Given the description of an element on the screen output the (x, y) to click on. 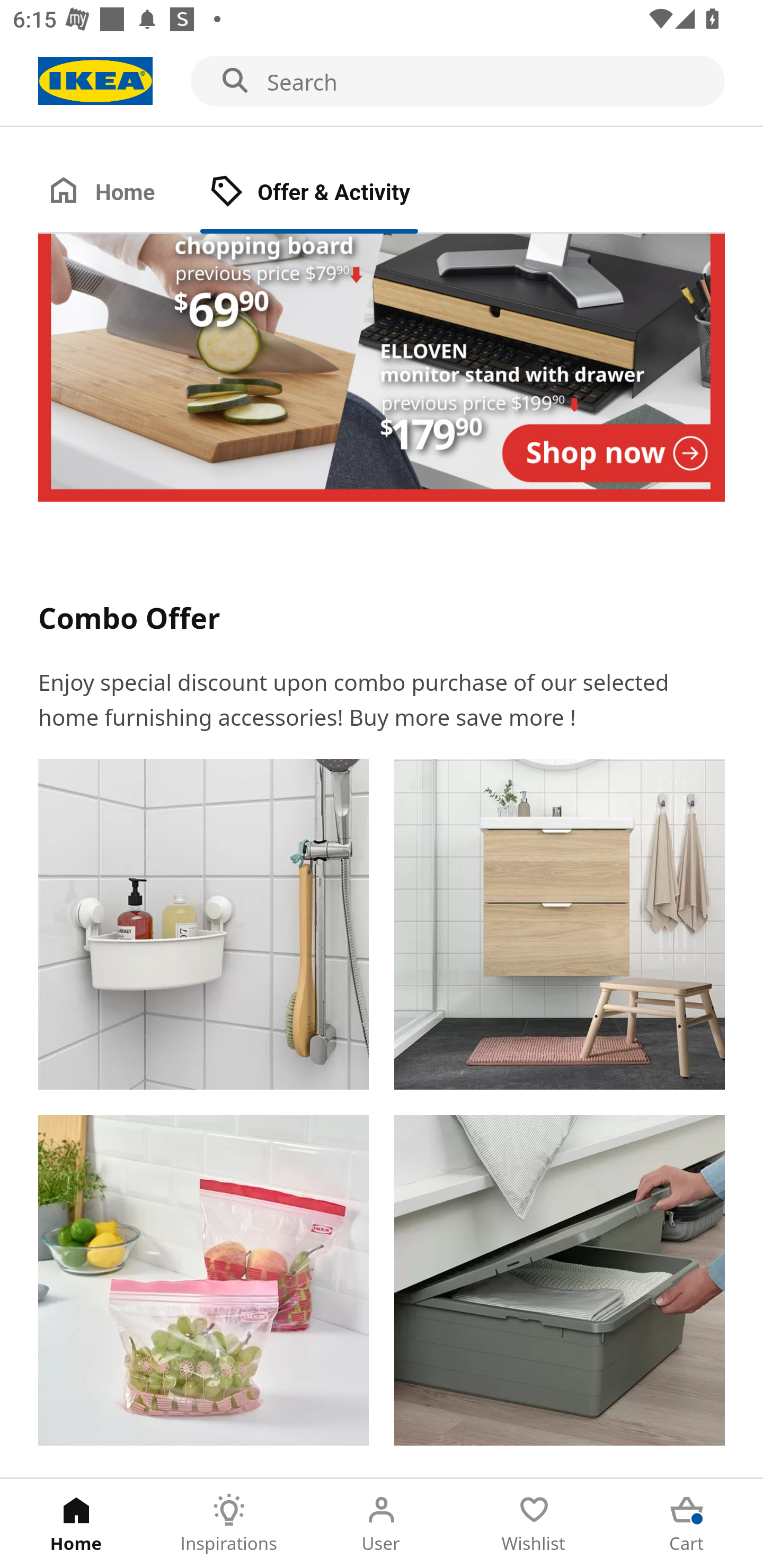
Search (381, 81)
Home
Tab 1 of 2 (118, 192)
Offer & Activity
Tab 2 of 2 (327, 192)
Home
Tab 1 of 5 (76, 1522)
Inspirations
Tab 2 of 5 (228, 1522)
User
Tab 3 of 5 (381, 1522)
Wishlist
Tab 4 of 5 (533, 1522)
Cart
Tab 5 of 5 (686, 1522)
